Given the description of an element on the screen output the (x, y) to click on. 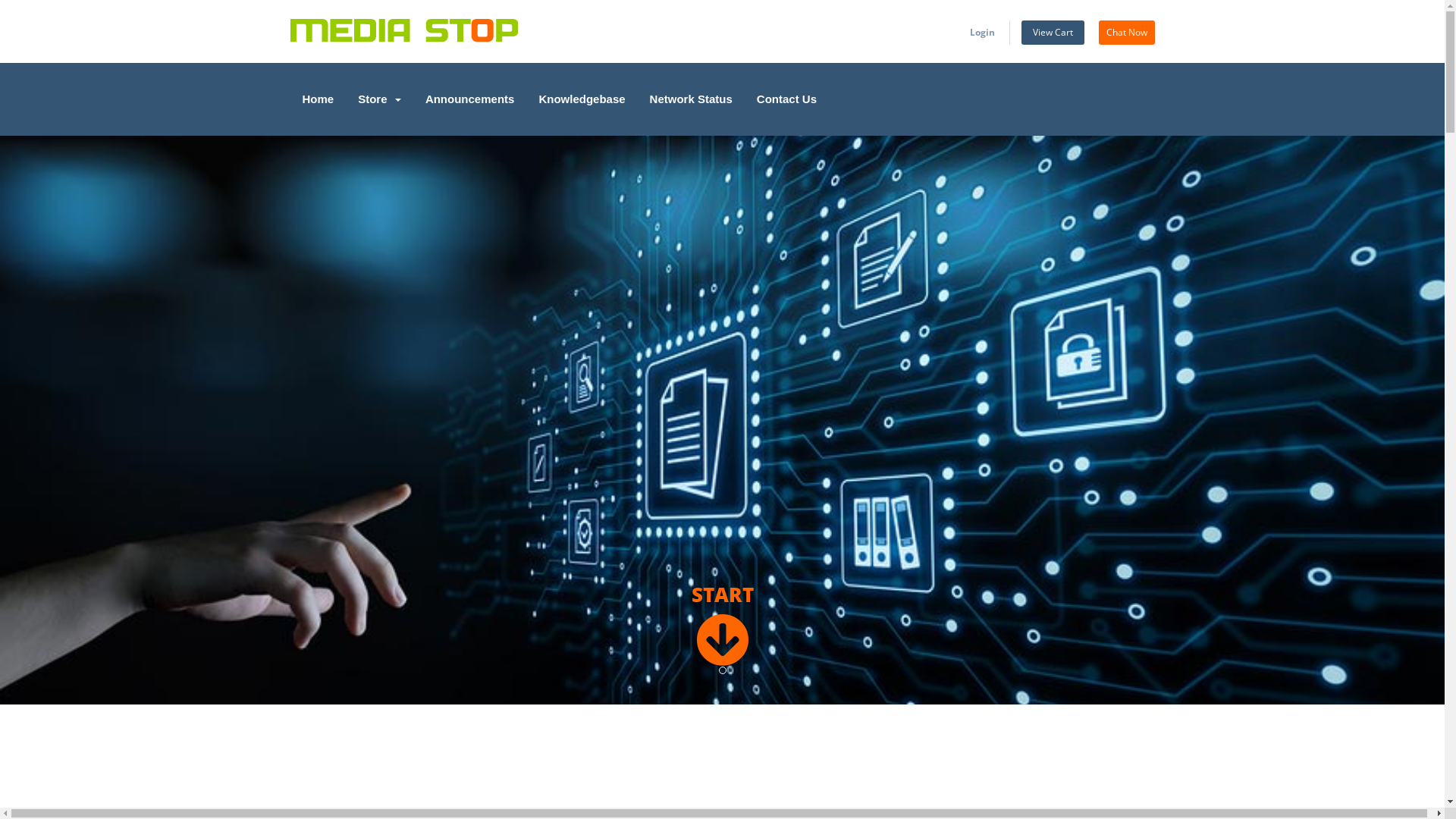
Chat Now Element type: text (1126, 32)
Contact Us Element type: text (786, 98)
Home Element type: text (317, 98)
View Cart Element type: text (1051, 32)
Knowledgebase Element type: text (581, 98)
Announcements Element type: text (470, 98)
Login Element type: text (981, 32)
Store   Element type: text (379, 98)
Network Status Element type: text (690, 98)
